Given the description of an element on the screen output the (x, y) to click on. 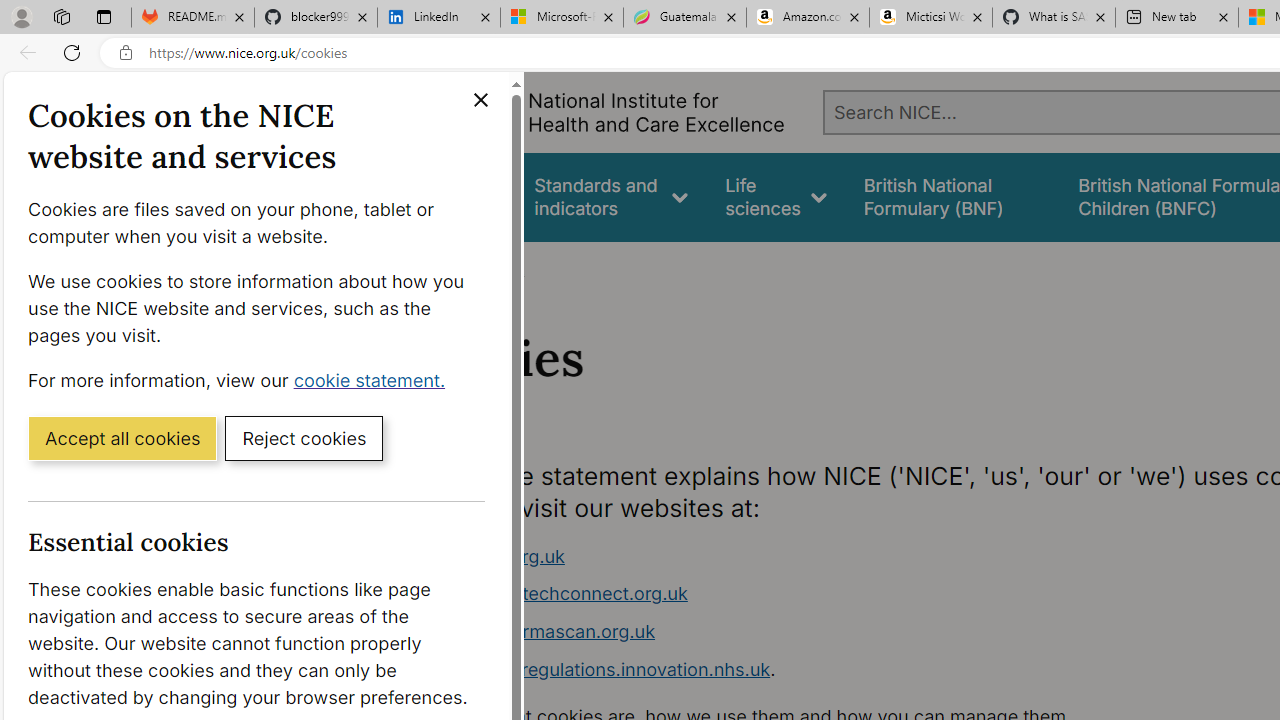
www.digitalregulations.innovation.nhs.uk. (796, 669)
www.nice.org.uk (492, 556)
www.healthtechconnect.org.uk (554, 593)
cookie statement. (Opens in a new window) (373, 379)
